Given the description of an element on the screen output the (x, y) to click on. 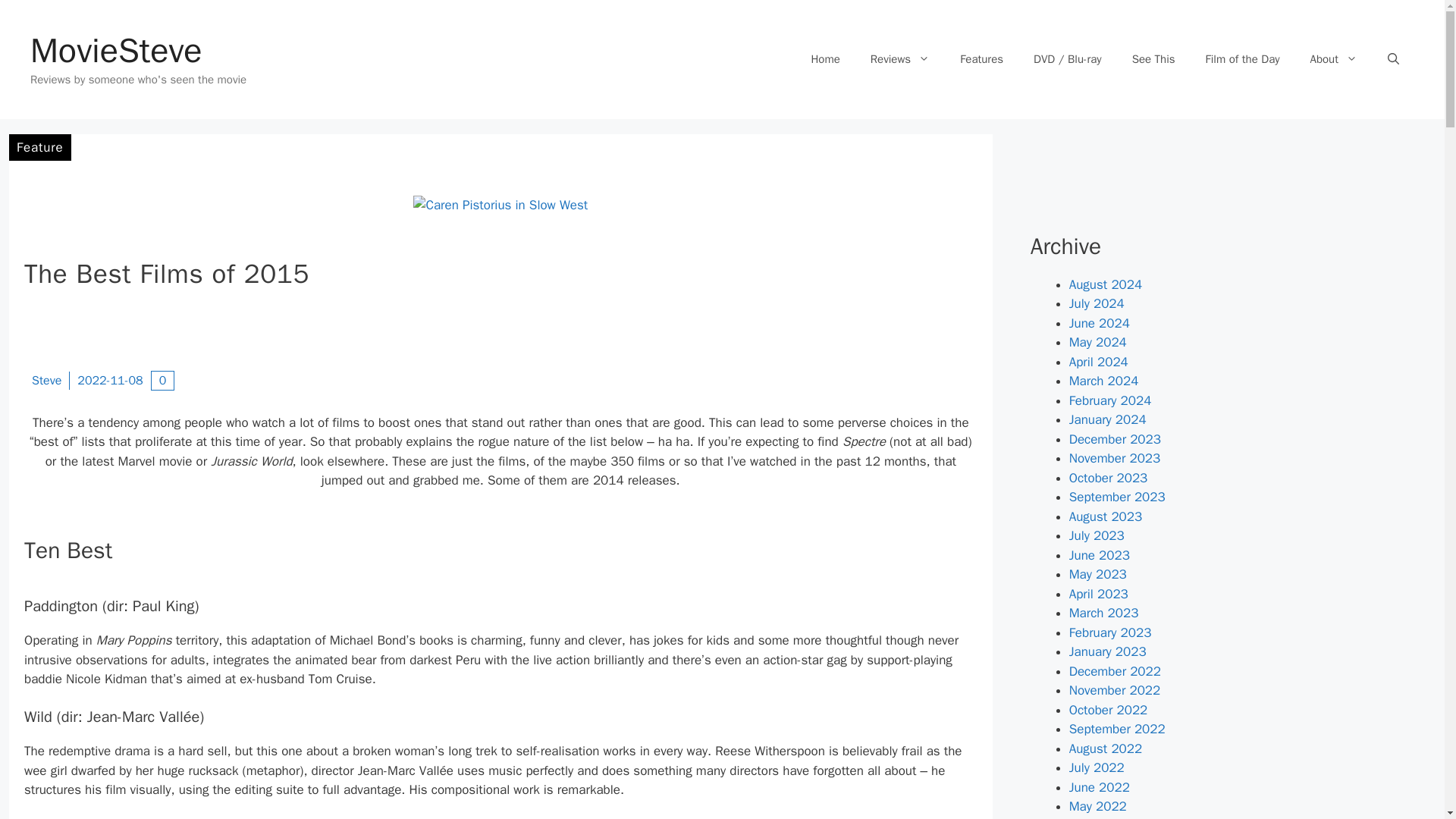
Feature (39, 146)
August 2024 (1104, 283)
MovieSteve (116, 50)
About (1334, 58)
Features (980, 58)
July 2024 (1096, 303)
See This (1153, 58)
Film of the Day (1243, 58)
March 2024 (1103, 381)
June 2024 (1098, 323)
